Given the description of an element on the screen output the (x, y) to click on. 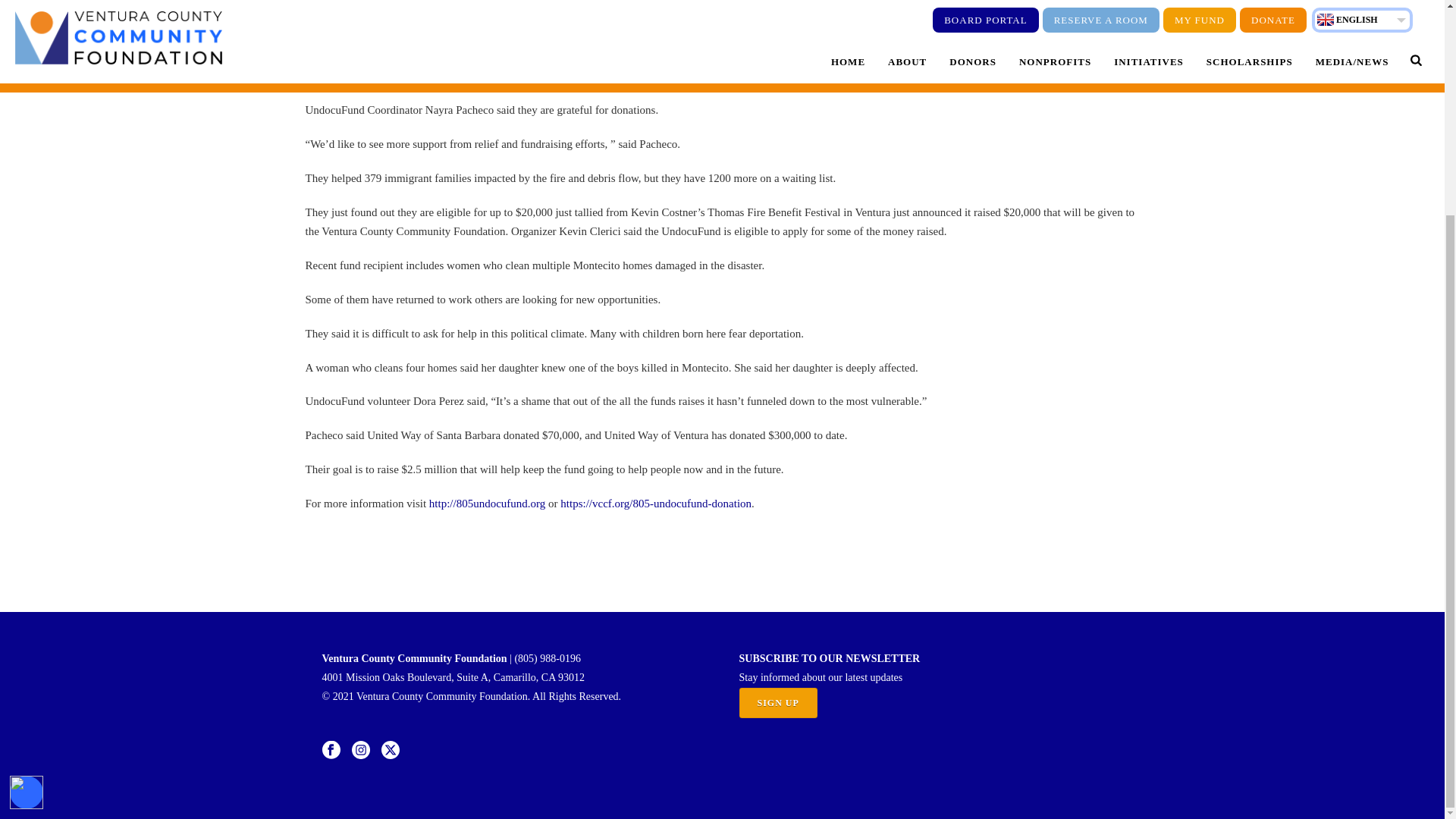
SIGN UP (777, 702)
Accessibility Menu (26, 510)
